Given the description of an element on the screen output the (x, y) to click on. 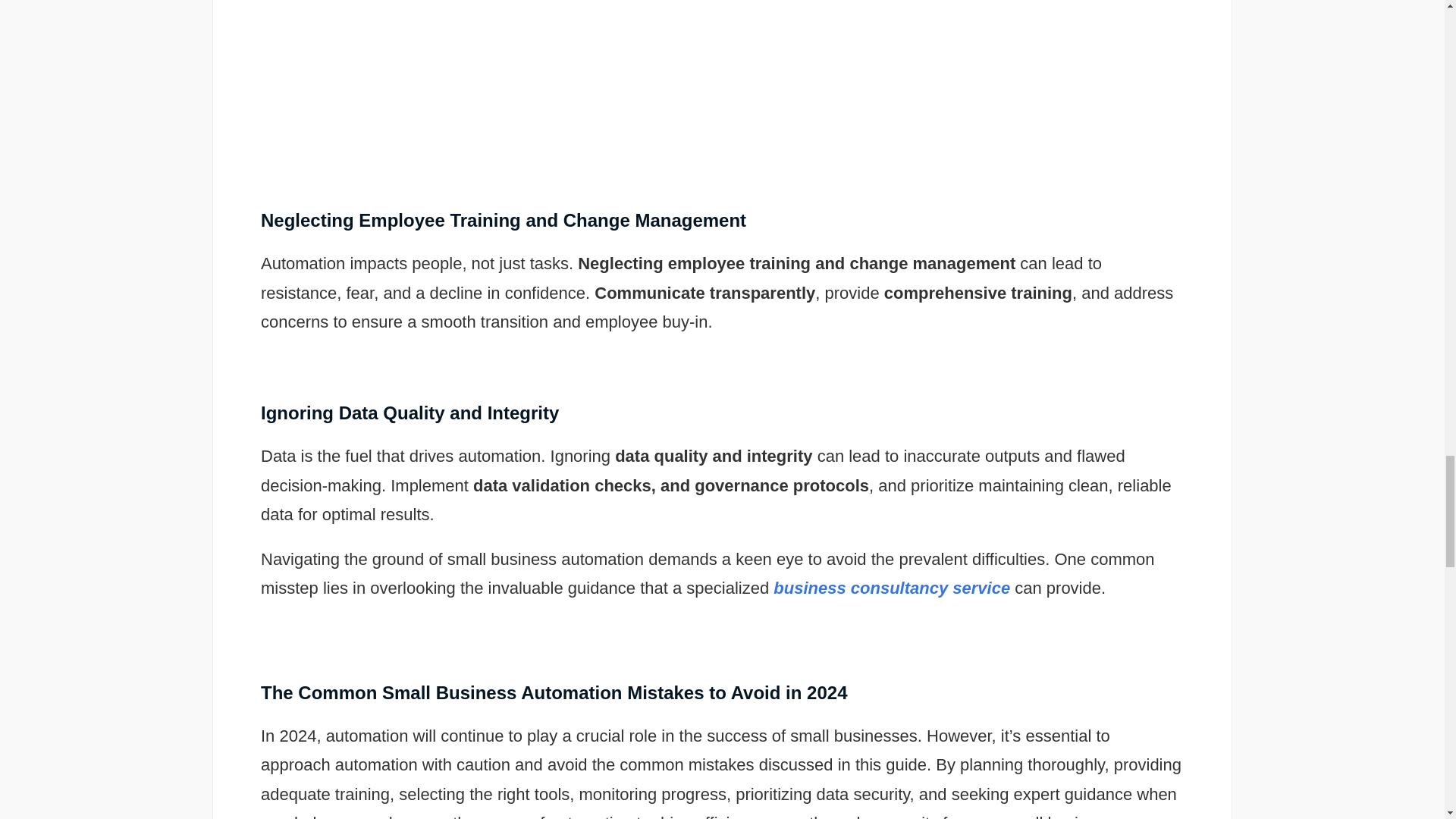
business consultancy service (891, 588)
